Given the description of an element on the screen output the (x, y) to click on. 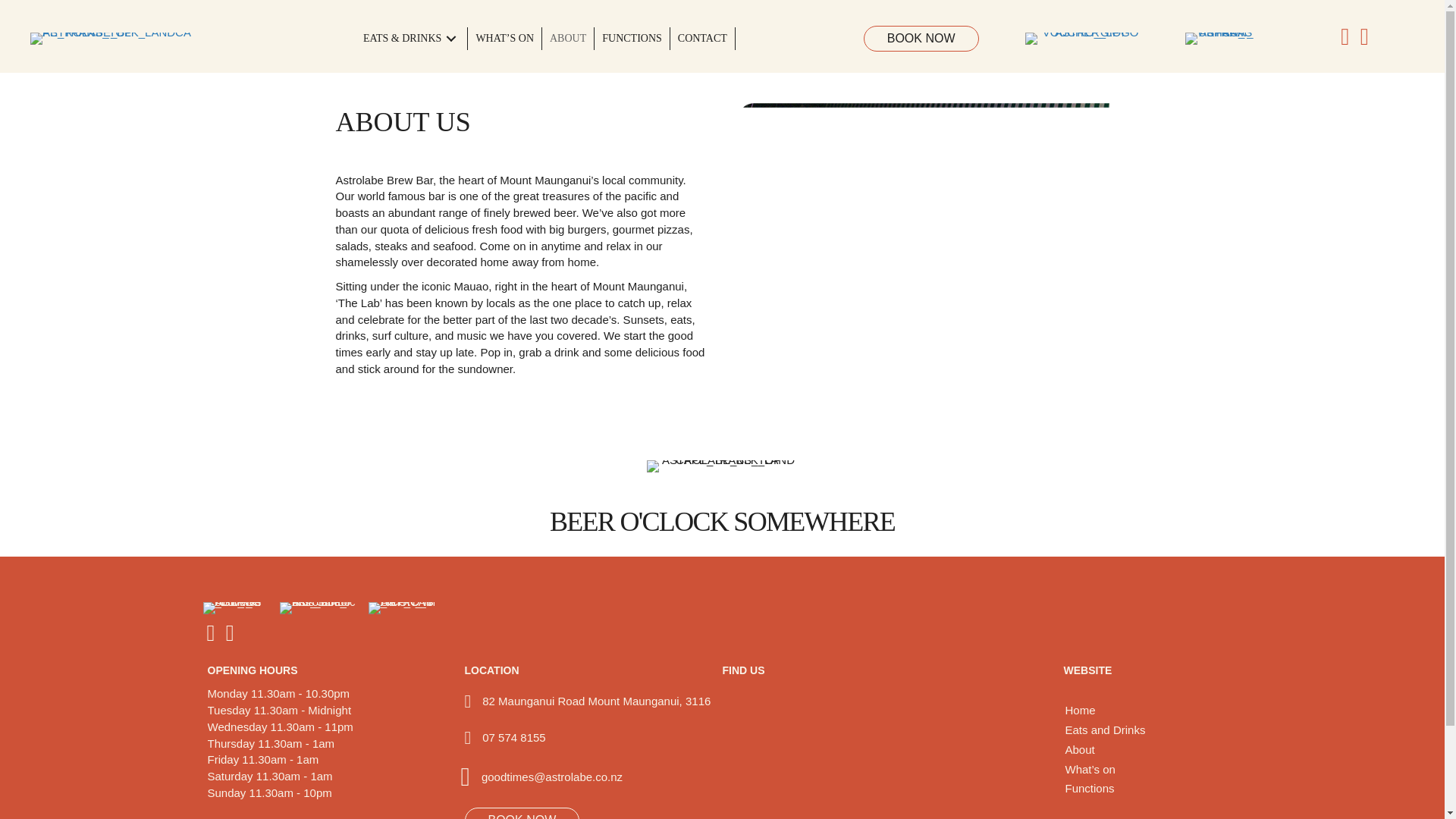
Page 1 (512, 737)
FUNCTIONS (631, 38)
Page 1 (520, 274)
Page 1 (552, 777)
ABOUT (567, 38)
BOOK NOW (920, 38)
CONTACT (702, 38)
